Given the description of an element on the screen output the (x, y) to click on. 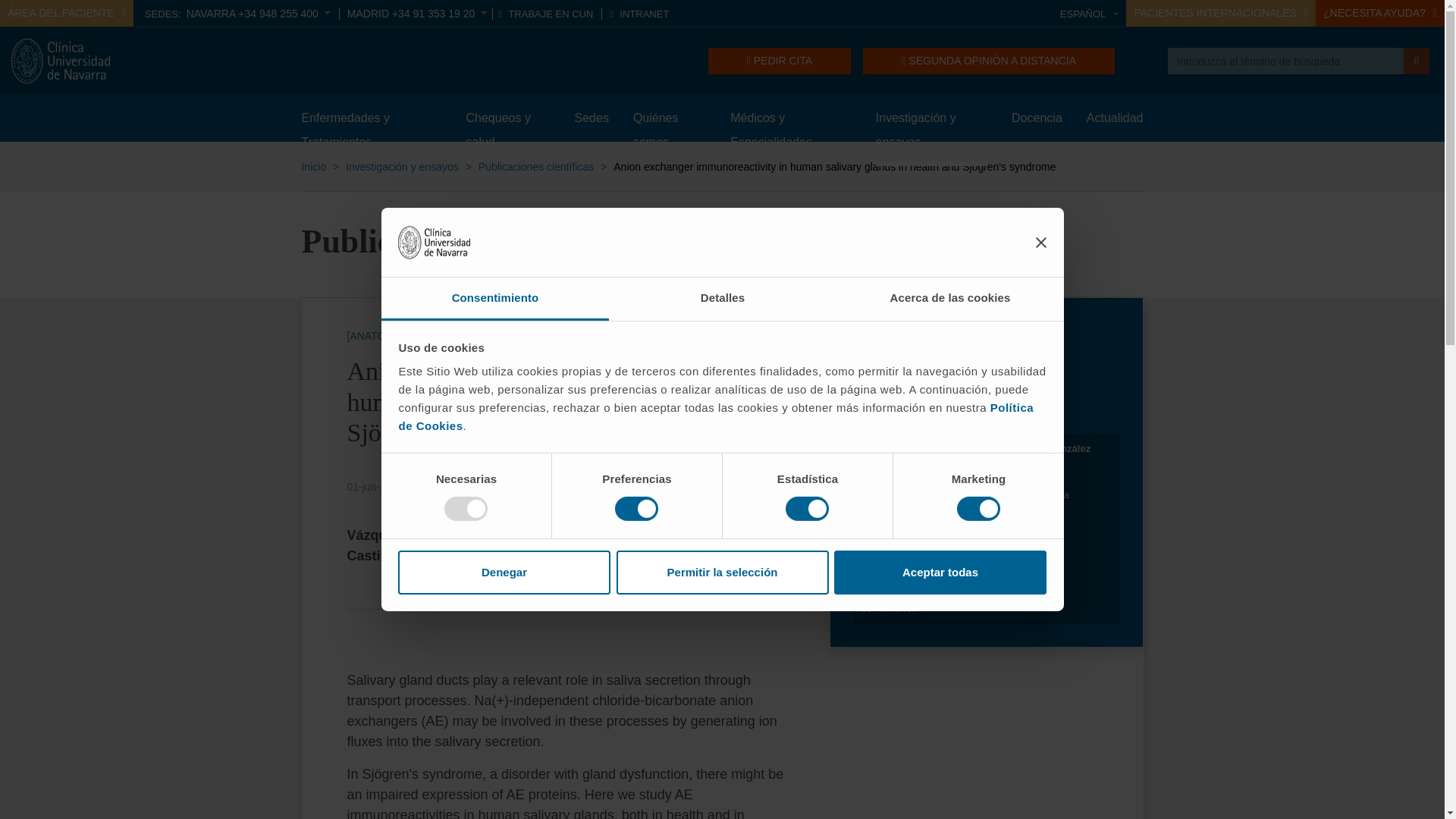
Detalles (721, 299)
NAVARRA (258, 13)
on (978, 508)
Acerca de las cookies (948, 299)
INTRANET (639, 13)
on (807, 508)
MADRID (417, 13)
Consentimiento (494, 299)
on (636, 508)
TRABAJE EN CUN (544, 13)
